Given the description of an element on the screen output the (x, y) to click on. 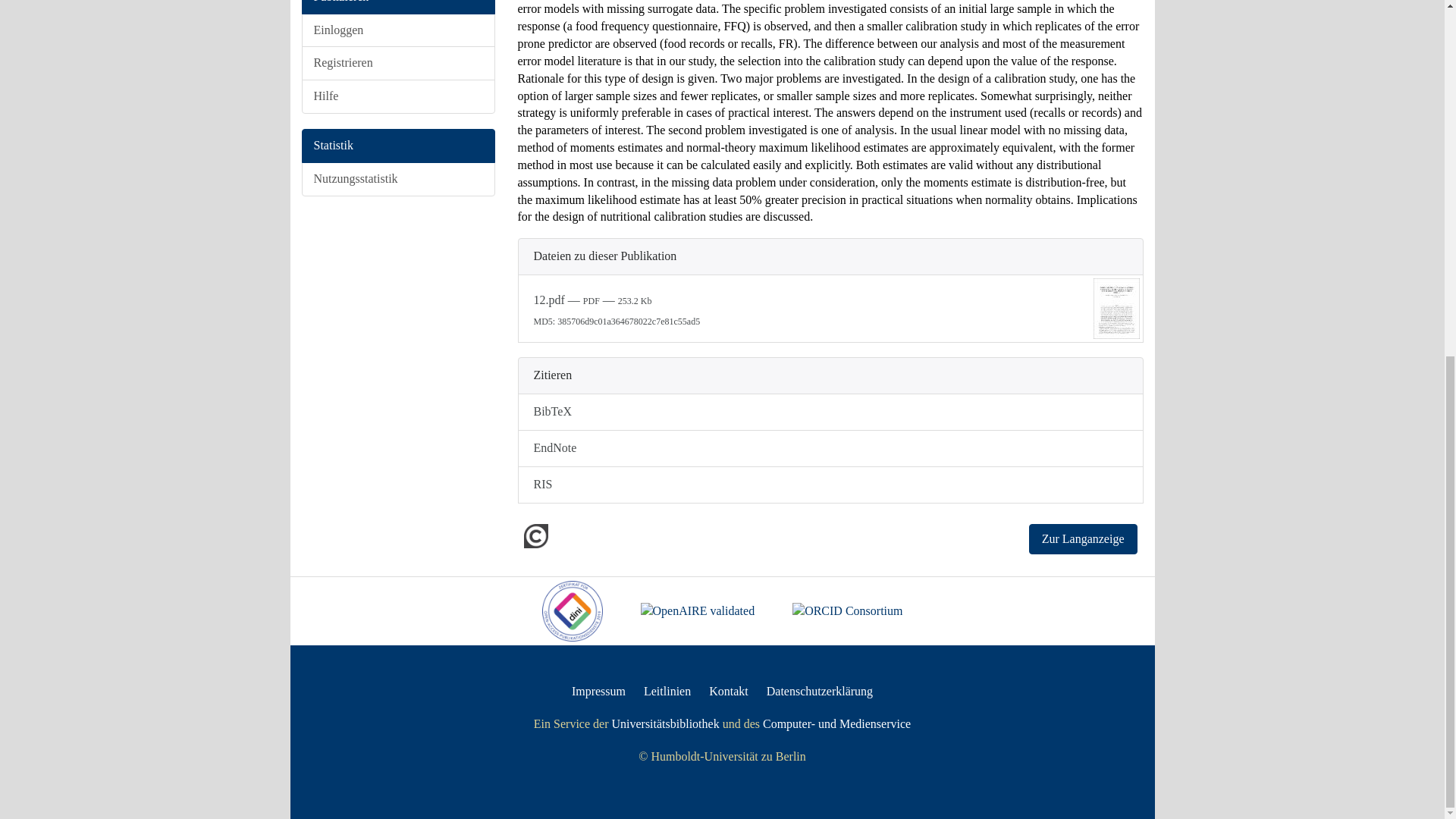
Statistik (398, 145)
Nutzungsstatistik (398, 179)
Einloggen (398, 30)
Registrieren (398, 62)
Publizieren (398, 7)
InCopyright (536, 533)
Hilfe (398, 96)
